Given the description of an element on the screen output the (x, y) to click on. 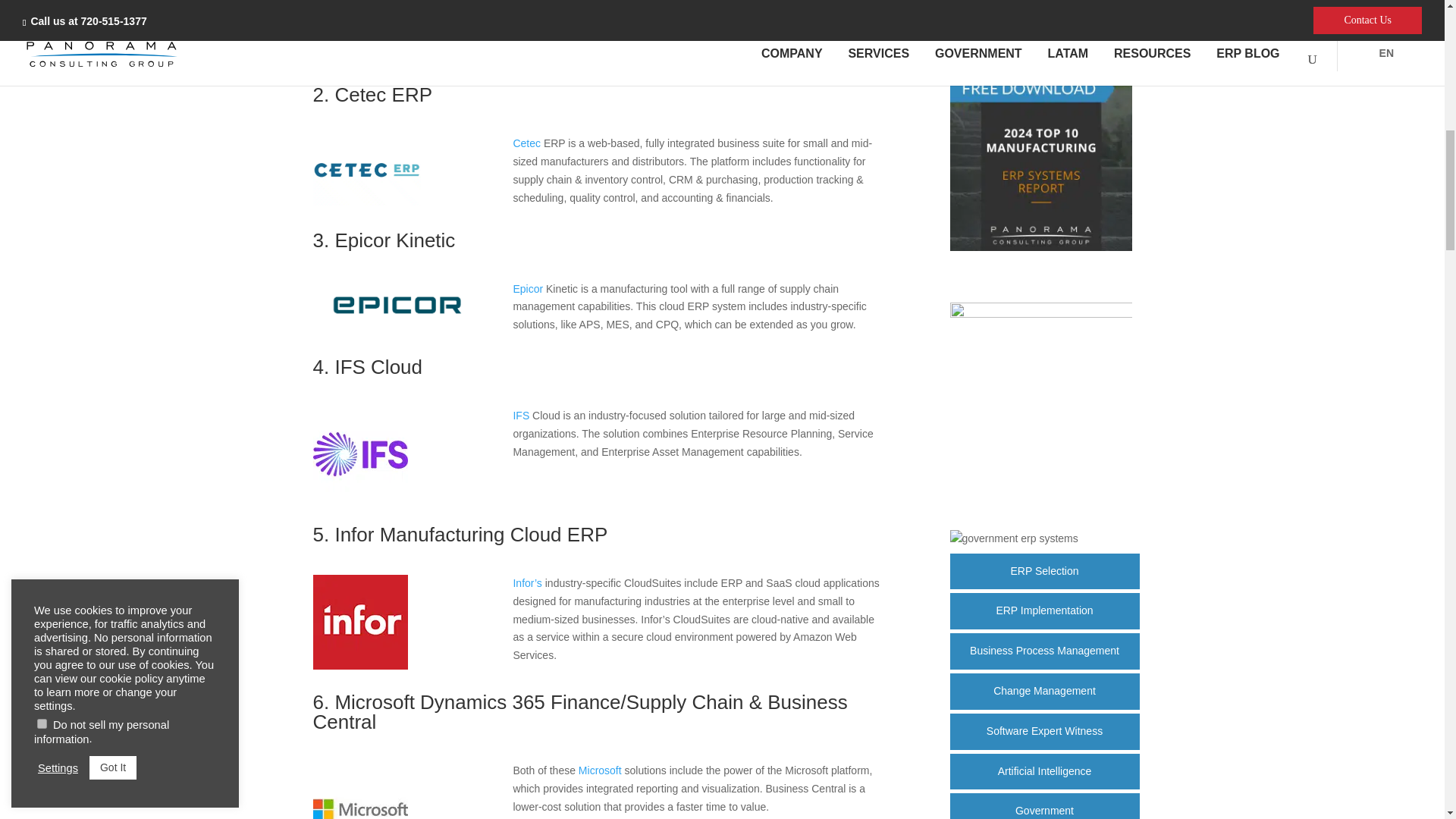
ifs logo (360, 498)
Acumatica (397, 50)
epicor logo (397, 326)
Cetec-ERP (366, 201)
logo-infor (360, 665)
